Given the description of an element on the screen output the (x, y) to click on. 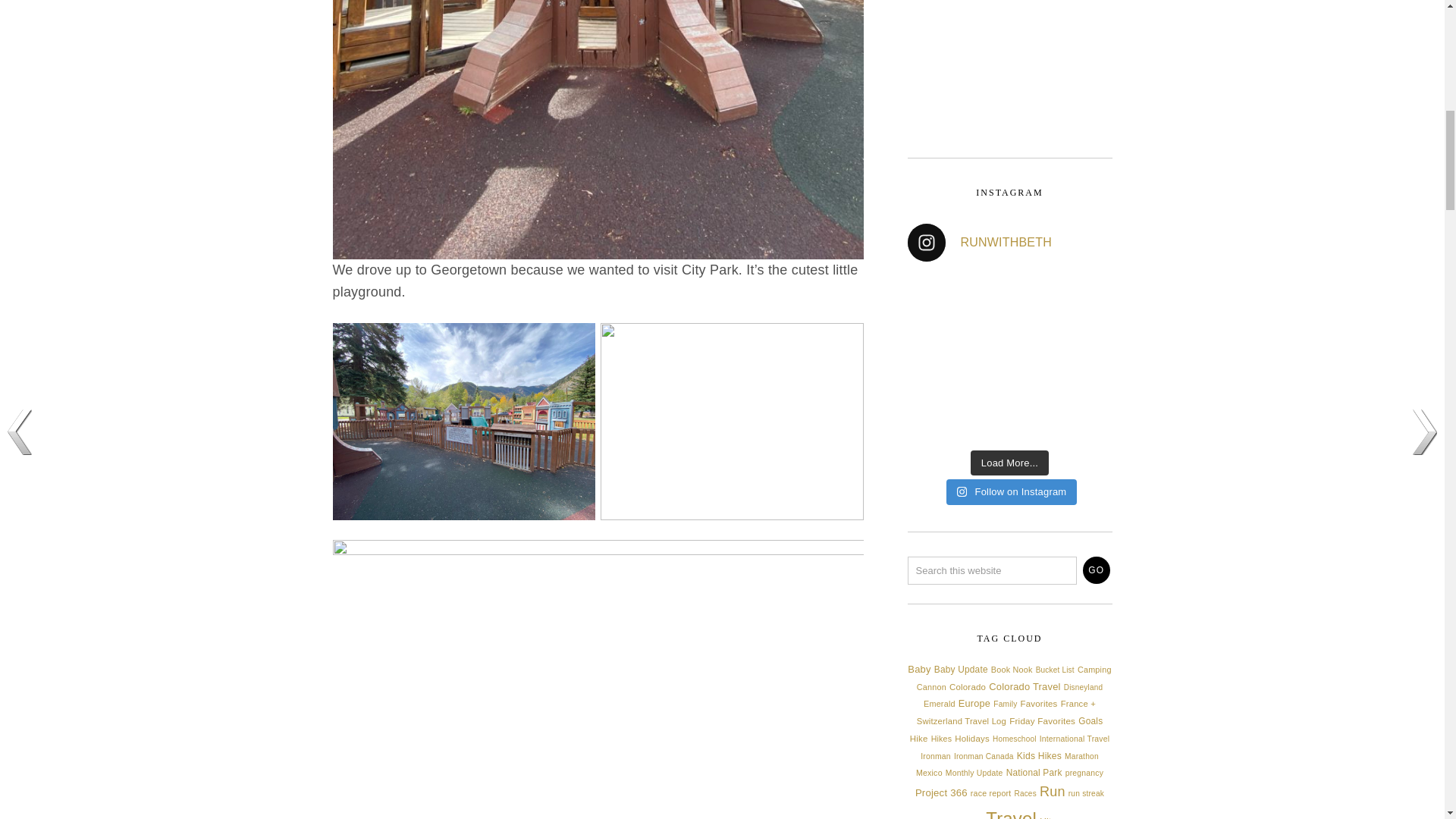
18 topics (918, 668)
RUNWITHBETH (1009, 242)
8 topics (1011, 669)
GO (1096, 569)
4 topics (1054, 669)
8 topics (931, 686)
8 topics (1094, 669)
13 topics (961, 669)
GO (1096, 569)
